Given the description of an element on the screen output the (x, y) to click on. 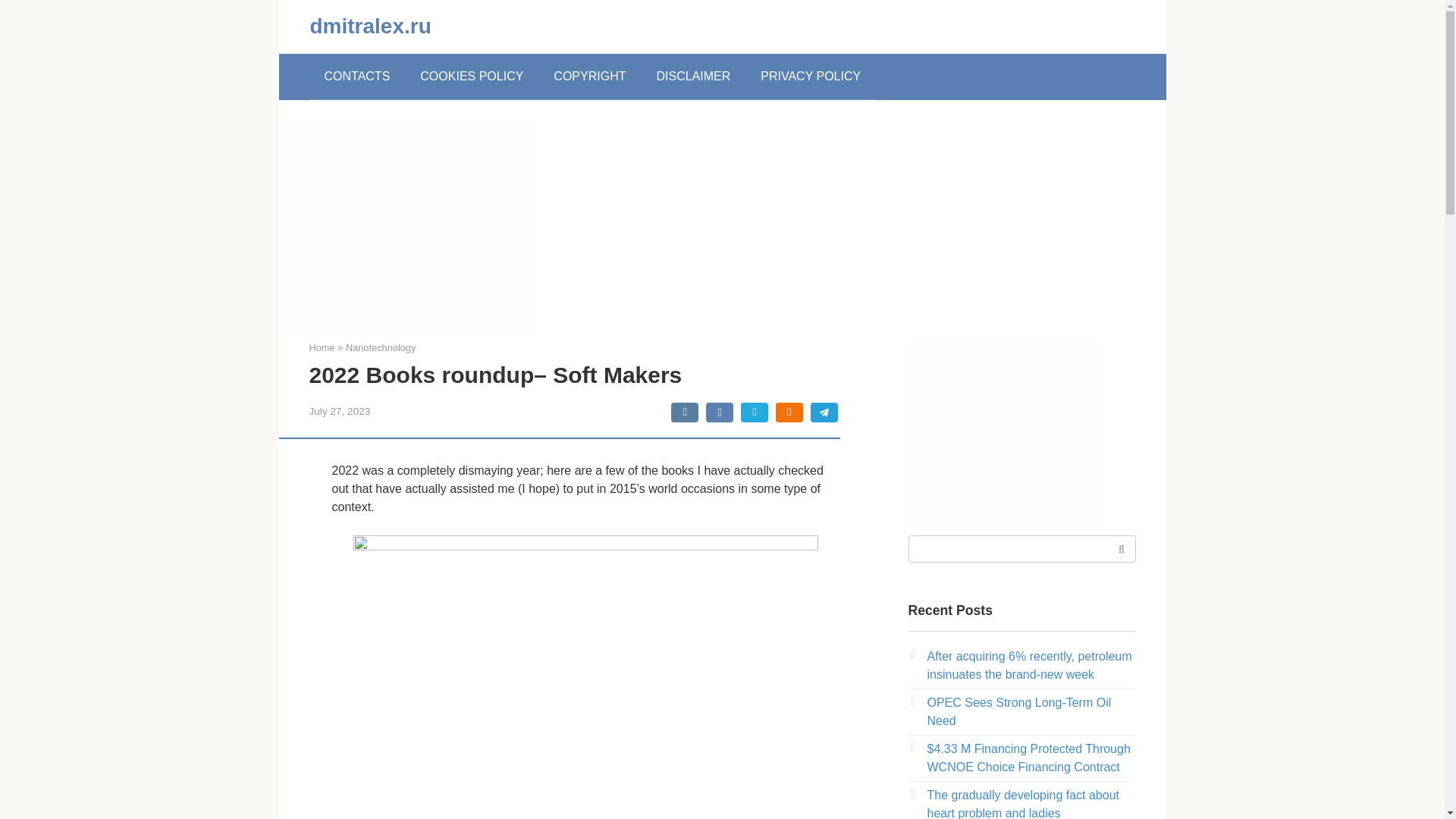
COPYRIGHT (589, 76)
The gradually developing fact about heart problem and ladies (1022, 803)
OPEC Sees Strong Long-Term Oil Need (1018, 711)
dmitralex.ru (369, 25)
DISCLAIMER (692, 76)
COOKIES POLICY (471, 76)
PRIVACY POLICY (810, 76)
Home (321, 347)
CONTACTS (357, 76)
Nanotechnology (381, 347)
